Given the description of an element on the screen output the (x, y) to click on. 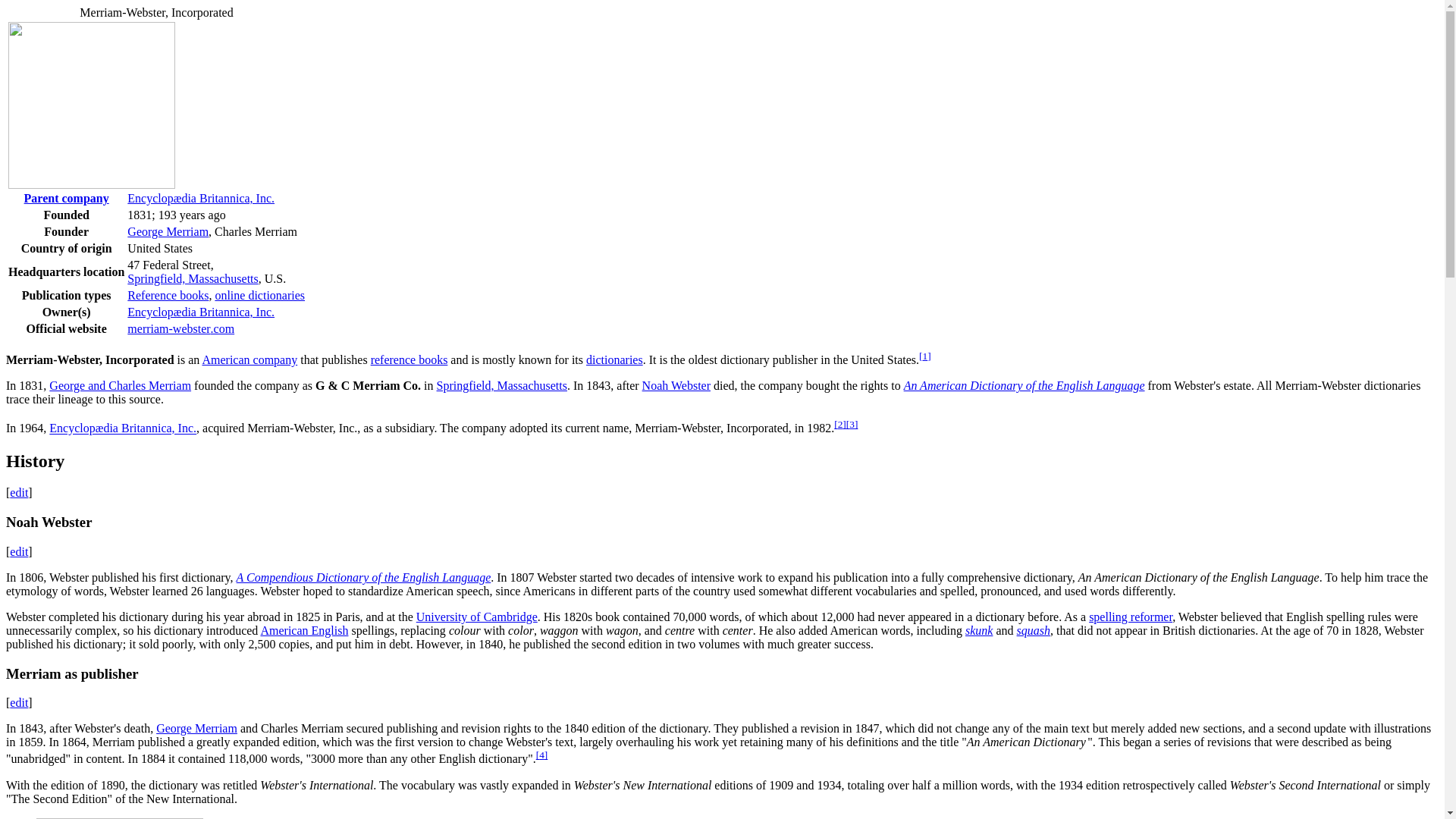
Reference work (168, 295)
Noah Webster (676, 385)
George Merriam (196, 727)
Webster's Dictionary (1024, 385)
Springfield, Massachusetts (192, 278)
Springfield, Massachusetts (501, 385)
edit (18, 702)
Reference books (168, 295)
edit (18, 492)
Springfield, Massachusetts (192, 278)
